Given the description of an element on the screen output the (x, y) to click on. 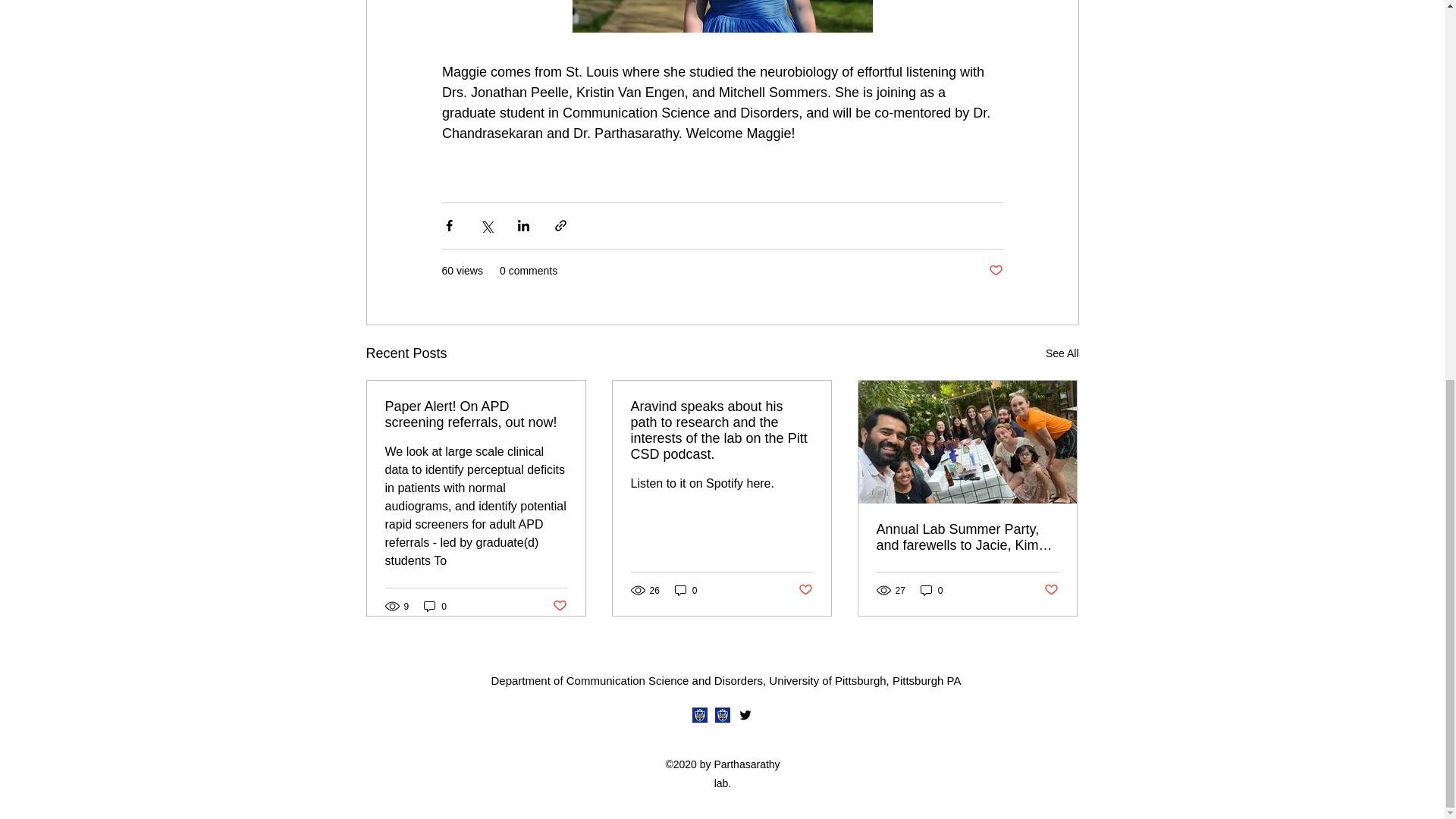
0 (685, 590)
Post not marked as liked (804, 590)
0 (435, 605)
Post not marked as liked (995, 270)
Paper Alert! On APD screening referrals, out now! (476, 414)
Post not marked as liked (1050, 590)
See All (1061, 353)
0 (931, 590)
Post not marked as liked (558, 606)
